Given the description of an element on the screen output the (x, y) to click on. 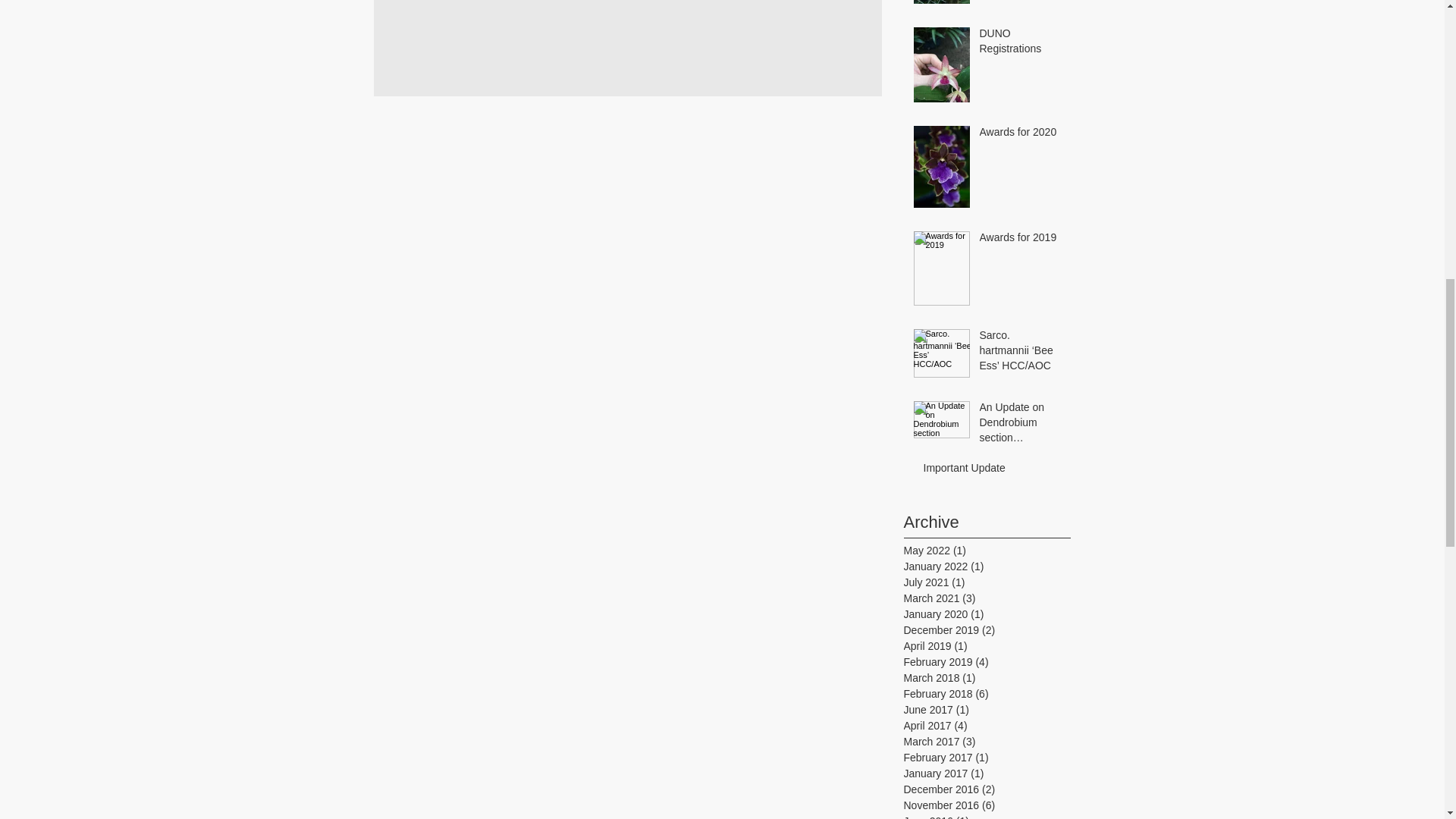
Awards for 2020 (1020, 135)
DUNO Registrations (1020, 44)
An Update on Dendrobium section Rhizobium (1020, 425)
Awards for 2019 (1020, 240)
Important Update (992, 471)
